Given the description of an element on the screen output the (x, y) to click on. 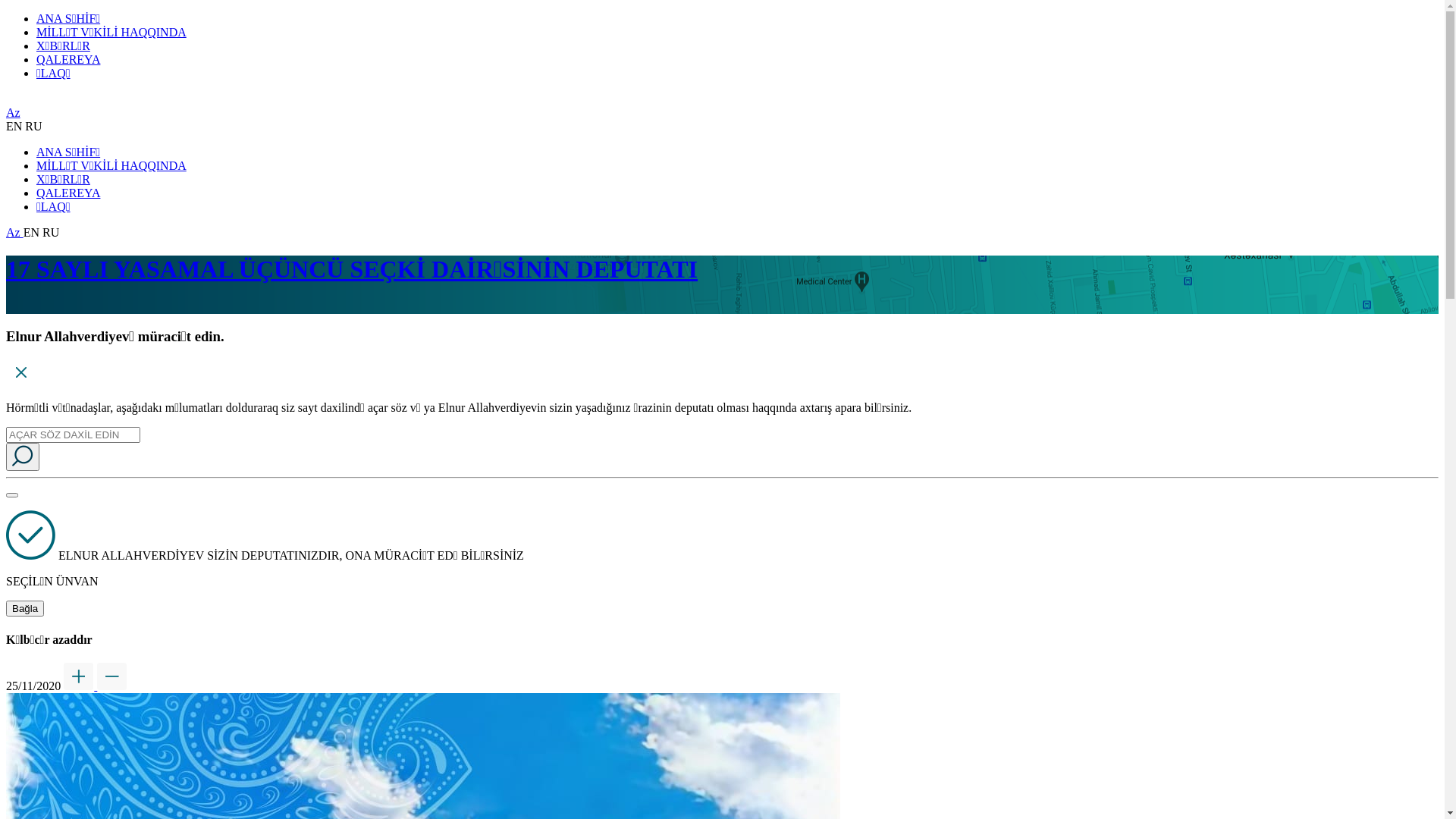
QALEREYA Element type: text (68, 59)
RU Element type: text (50, 231)
QALEREYA Element type: text (68, 192)
EN Element type: text (32, 231)
Az Element type: text (13, 112)
Az Element type: text (14, 231)
EN Element type: text (15, 125)
RU Element type: text (33, 125)
